Given the description of an element on the screen output the (x, y) to click on. 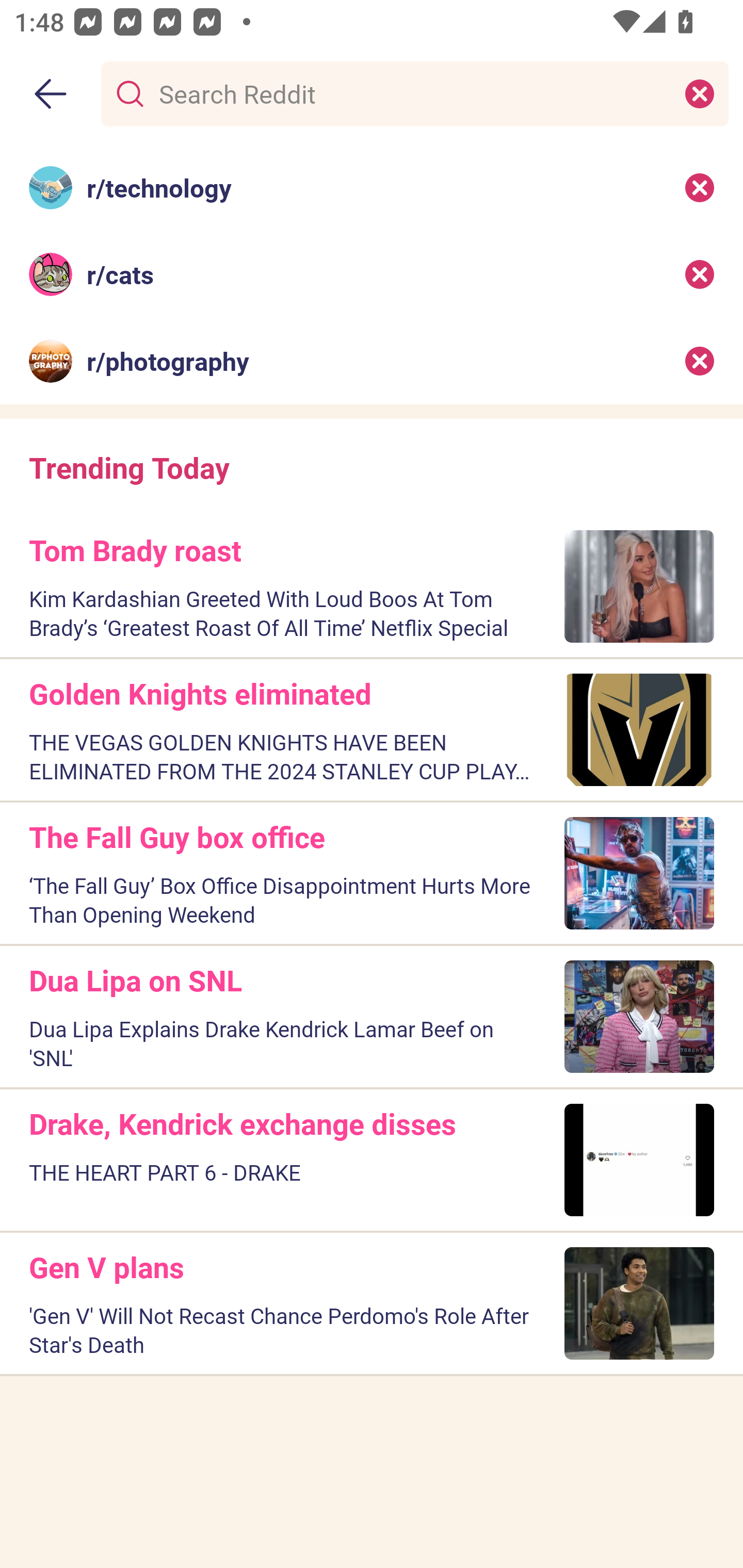
Back (50, 93)
Search Reddit (410, 93)
Clear search (699, 93)
r/technology Recent search: r/technology Remove (371, 187)
Remove (699, 187)
r/cats Recent search: r/cats Remove (371, 274)
Remove (699, 274)
r/photography Recent search: r/photography Remove (371, 361)
Remove (699, 361)
